Given the description of an element on the screen output the (x, y) to click on. 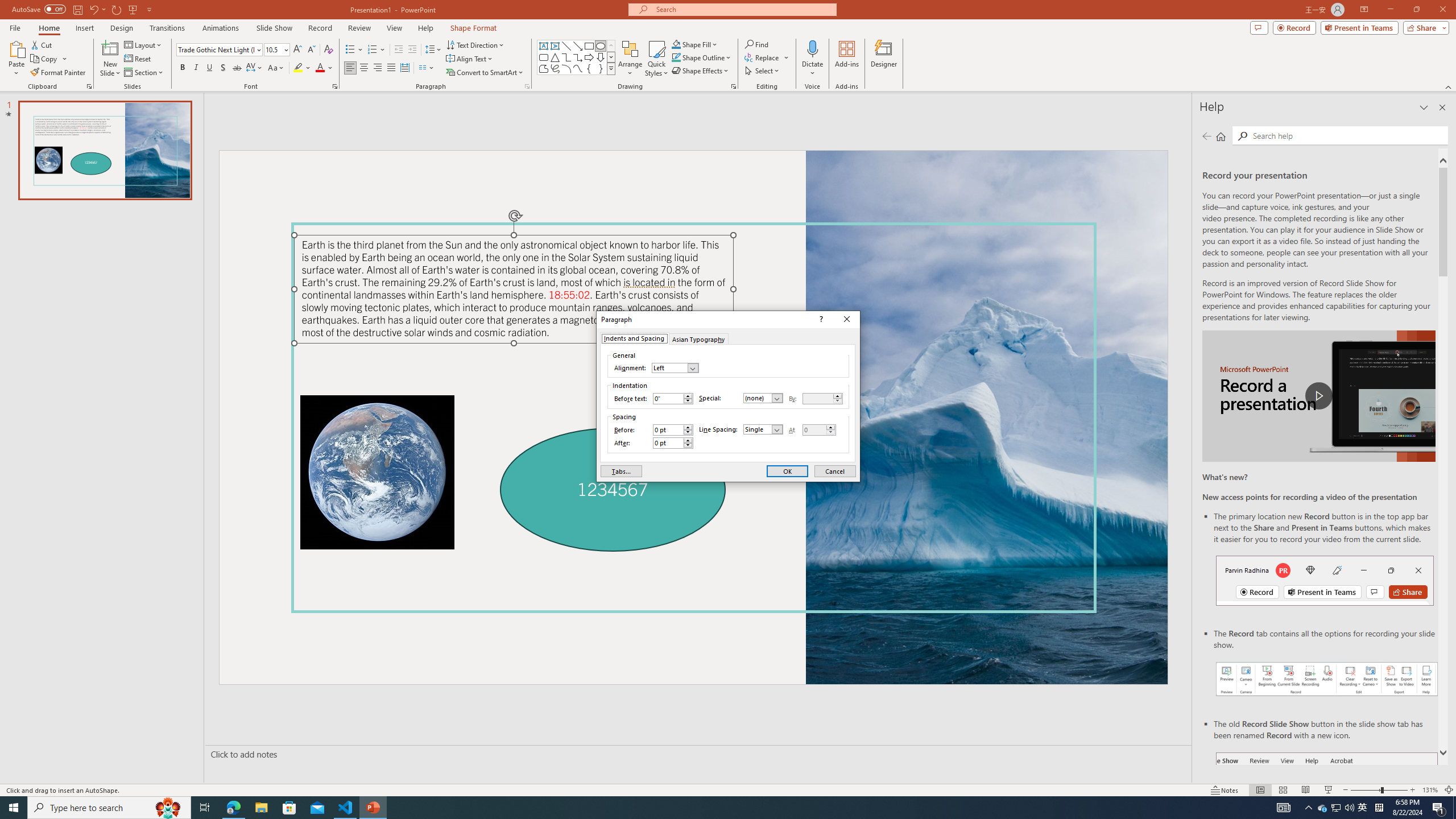
By (822, 398)
After (672, 442)
OK (786, 470)
